Given the description of an element on the screen output the (x, y) to click on. 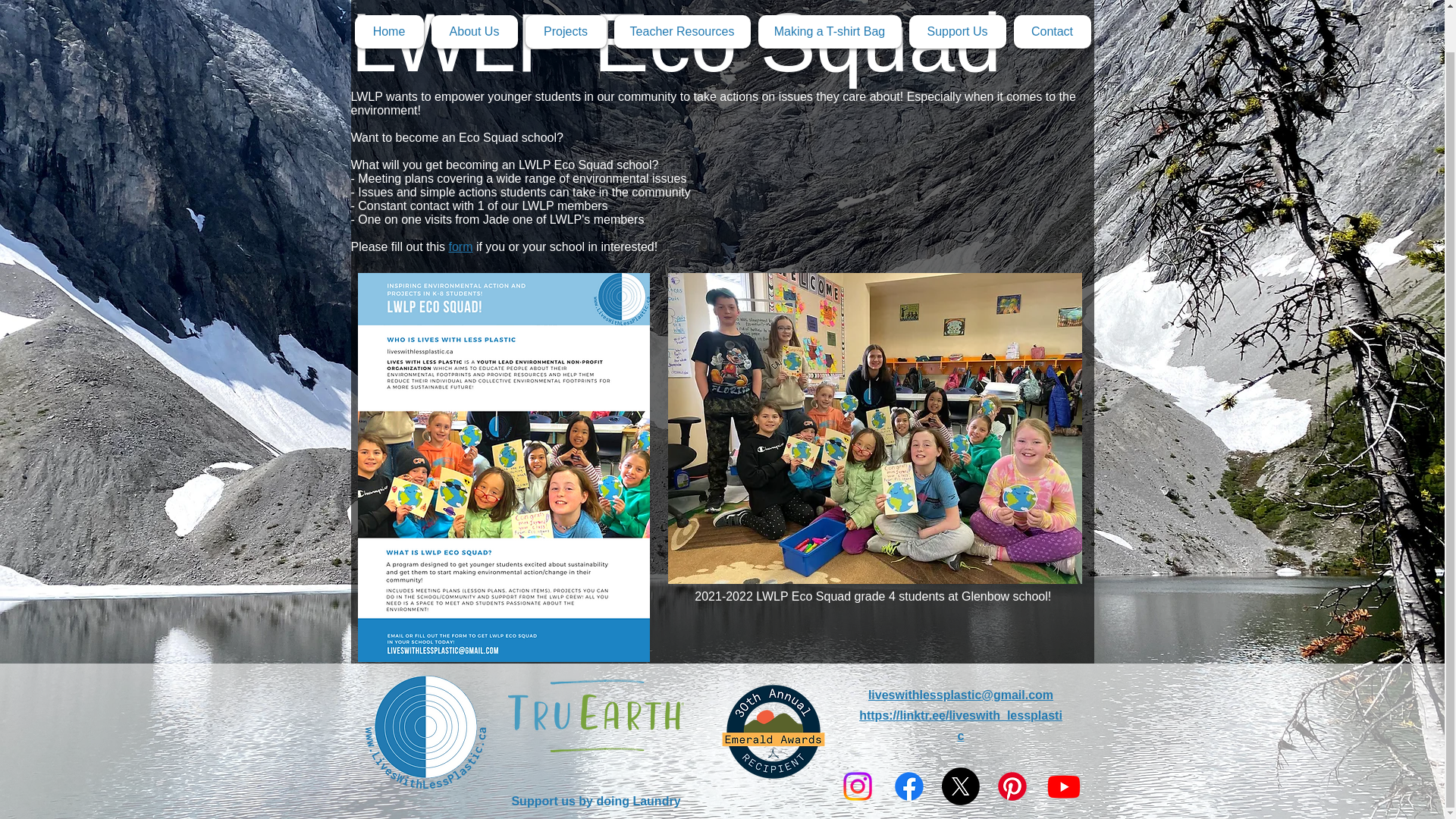
Contact (1051, 2)
Home (389, 2)
About Us (473, 2)
Support Us (957, 2)
Making a T-shirt Bag (829, 2)
form (459, 246)
